Given the description of an element on the screen output the (x, y) to click on. 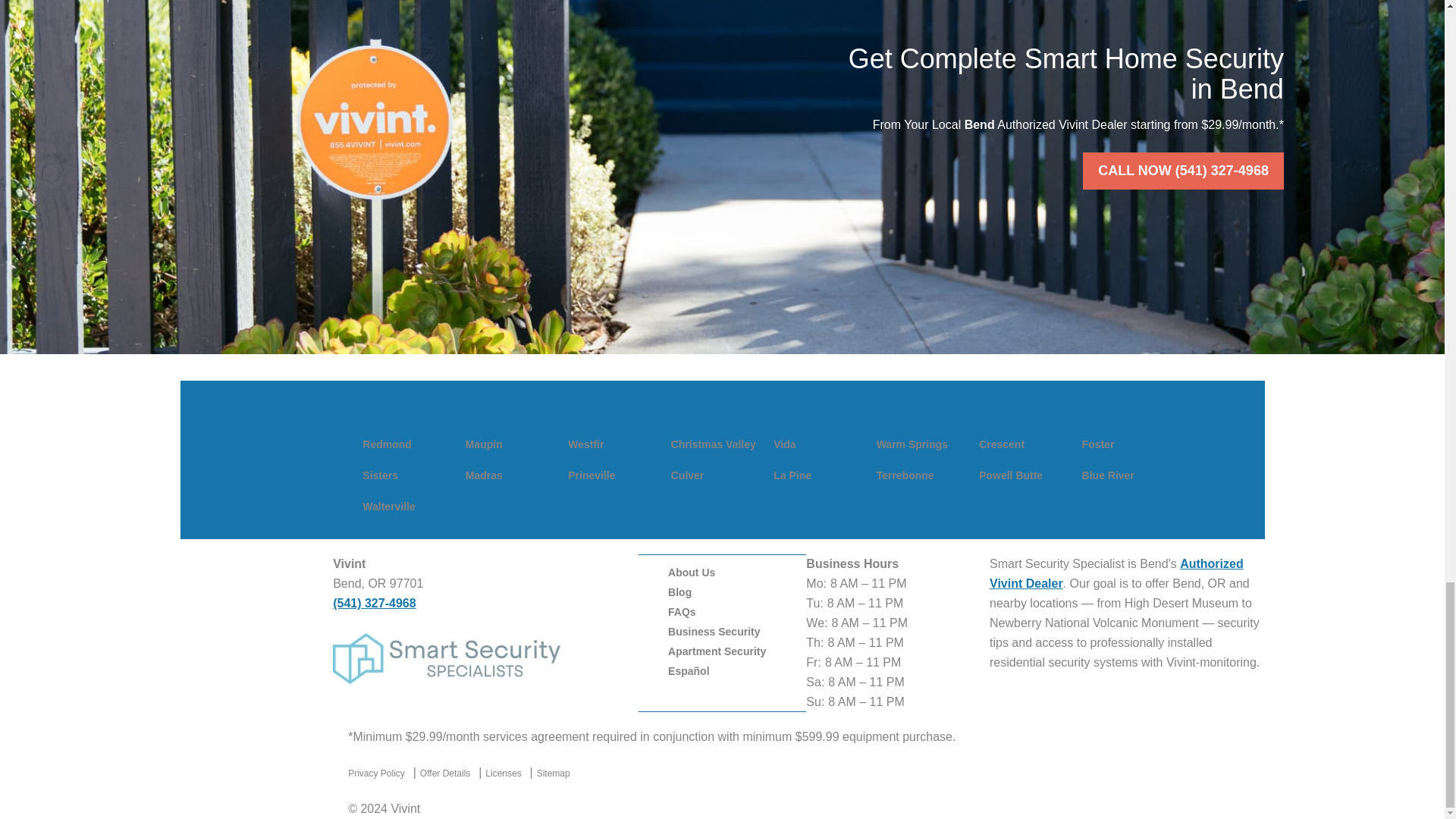
Maupin (483, 444)
Redmond (387, 444)
